Given the description of an element on the screen output the (x, y) to click on. 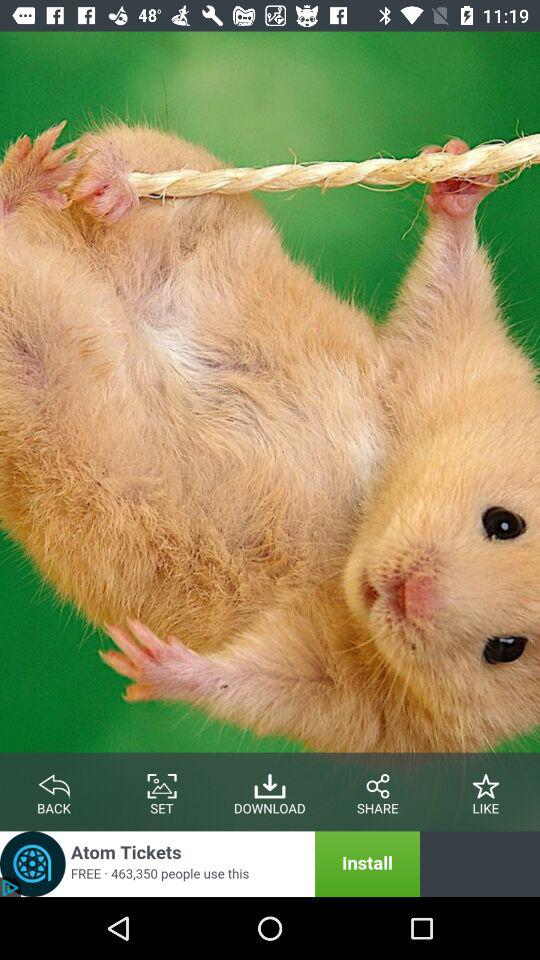
set the picture option (161, 782)
